Given the description of an element on the screen output the (x, y) to click on. 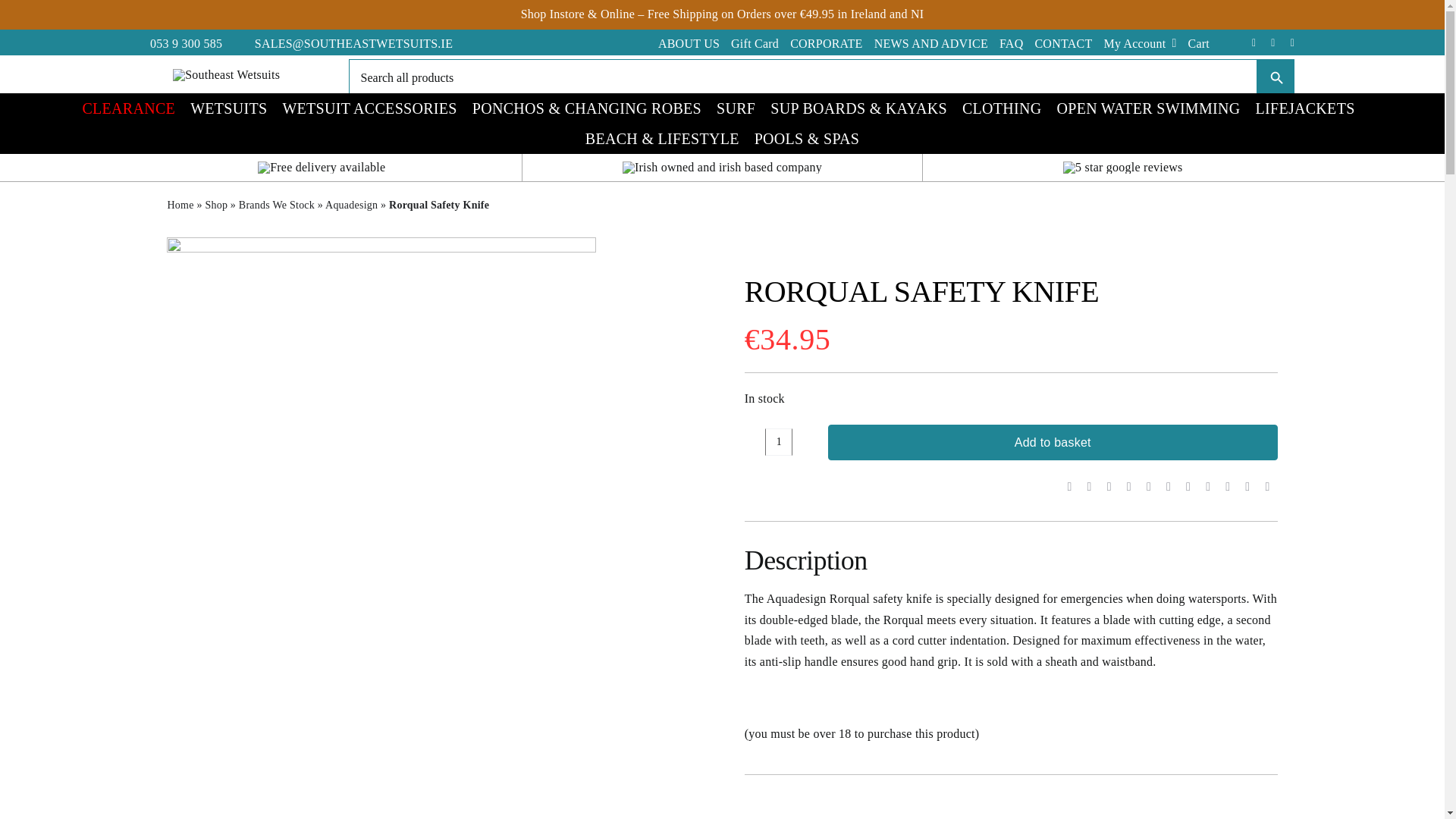
Irish Based (721, 166)
1 (778, 441)
Free-Shipping-Asterix-Desktop (321, 166)
South East Logo (226, 74)
5-star-google-reviews-2 (1122, 166)
